Given the description of an element on the screen output the (x, y) to click on. 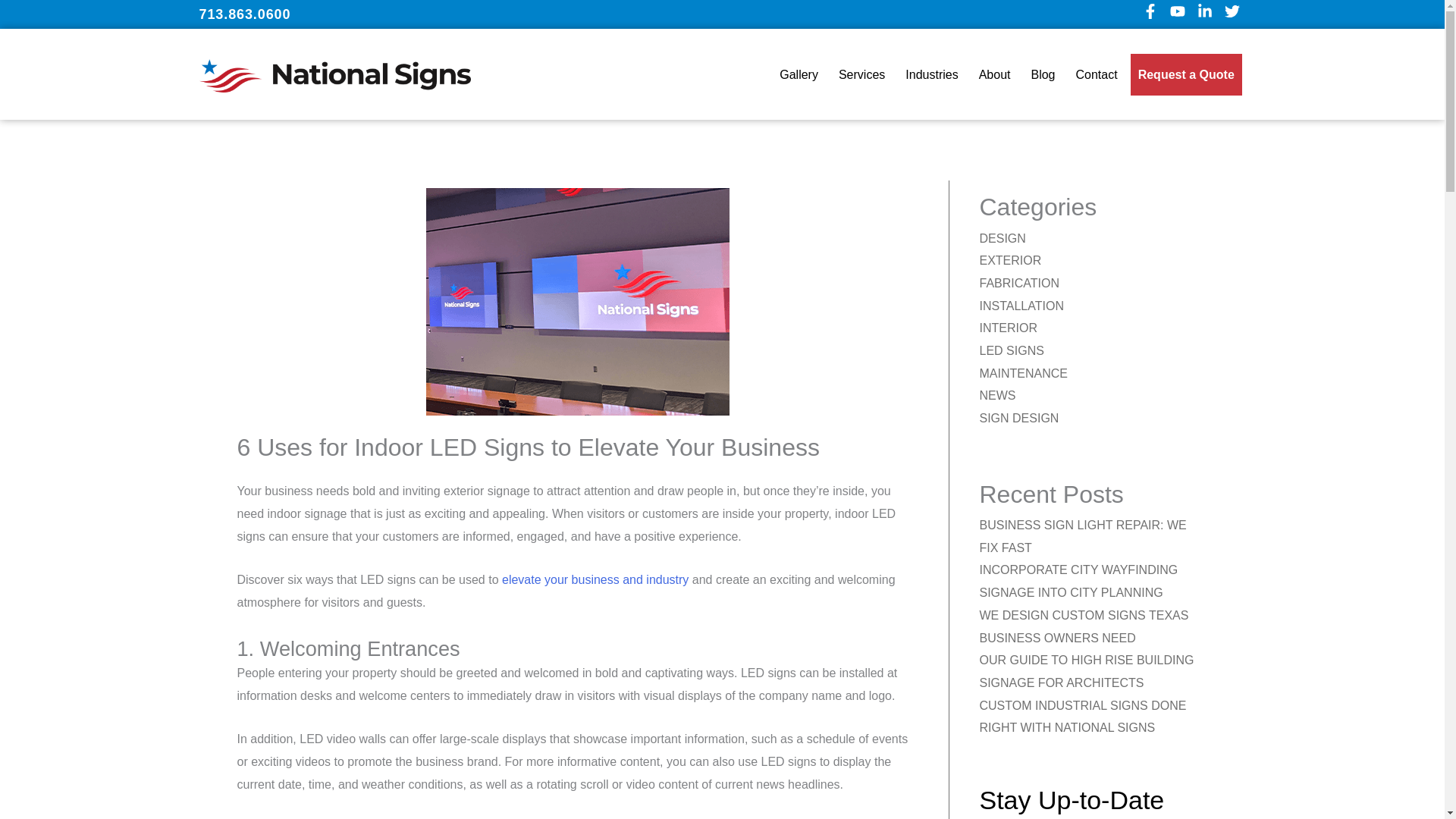
Gallery (798, 74)
Industries (931, 74)
Contact (1096, 74)
Request a Quote (1186, 74)
Blog (1042, 74)
Services (861, 74)
Youtube (1180, 14)
Linkedin-in (1206, 14)
713.863.0600 (243, 14)
Twitter (1234, 14)
